Given the description of an element on the screen output the (x, y) to click on. 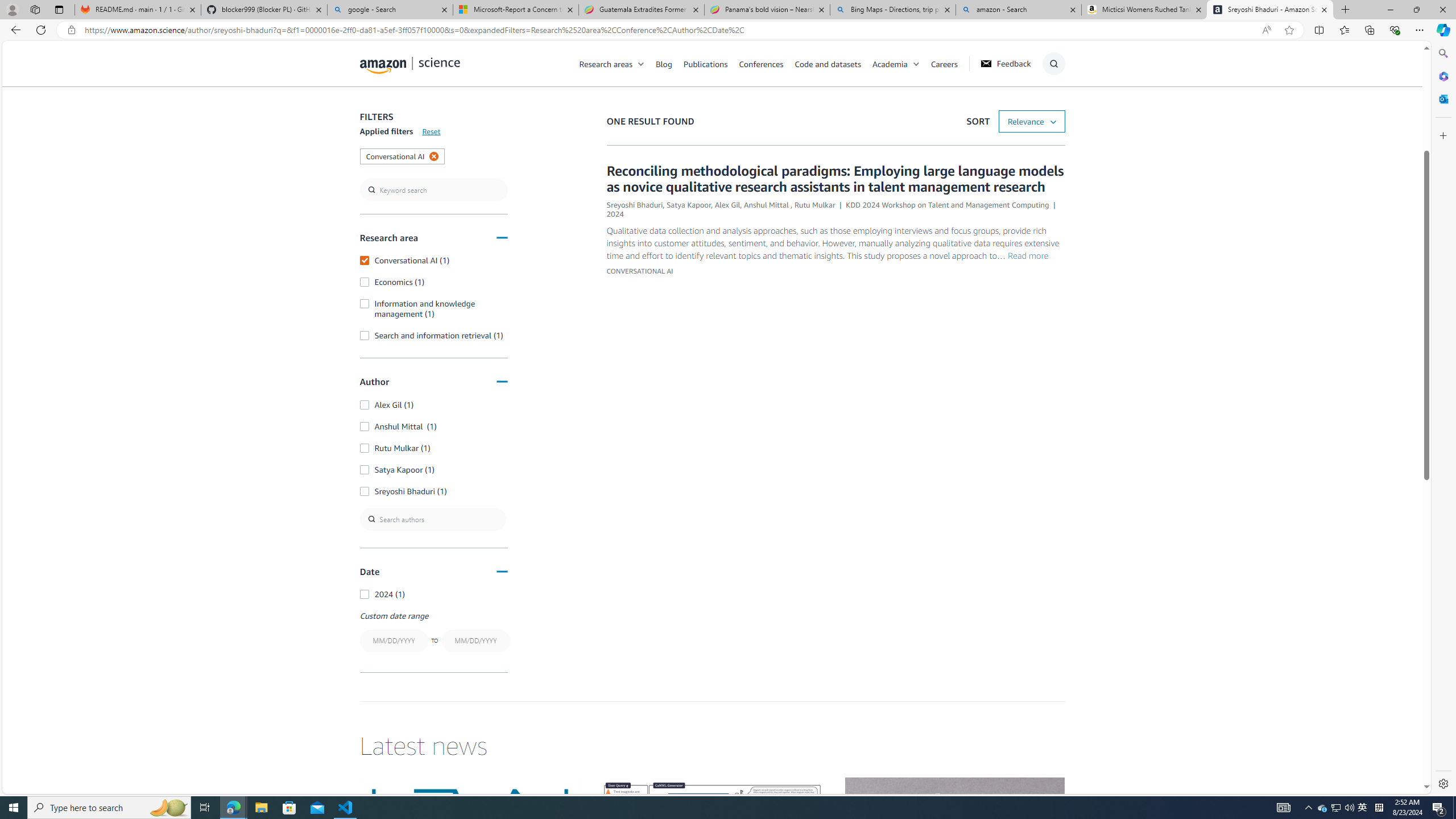
amazon-science-logo.svg (409, 65)
